Given the description of an element on the screen output the (x, y) to click on. 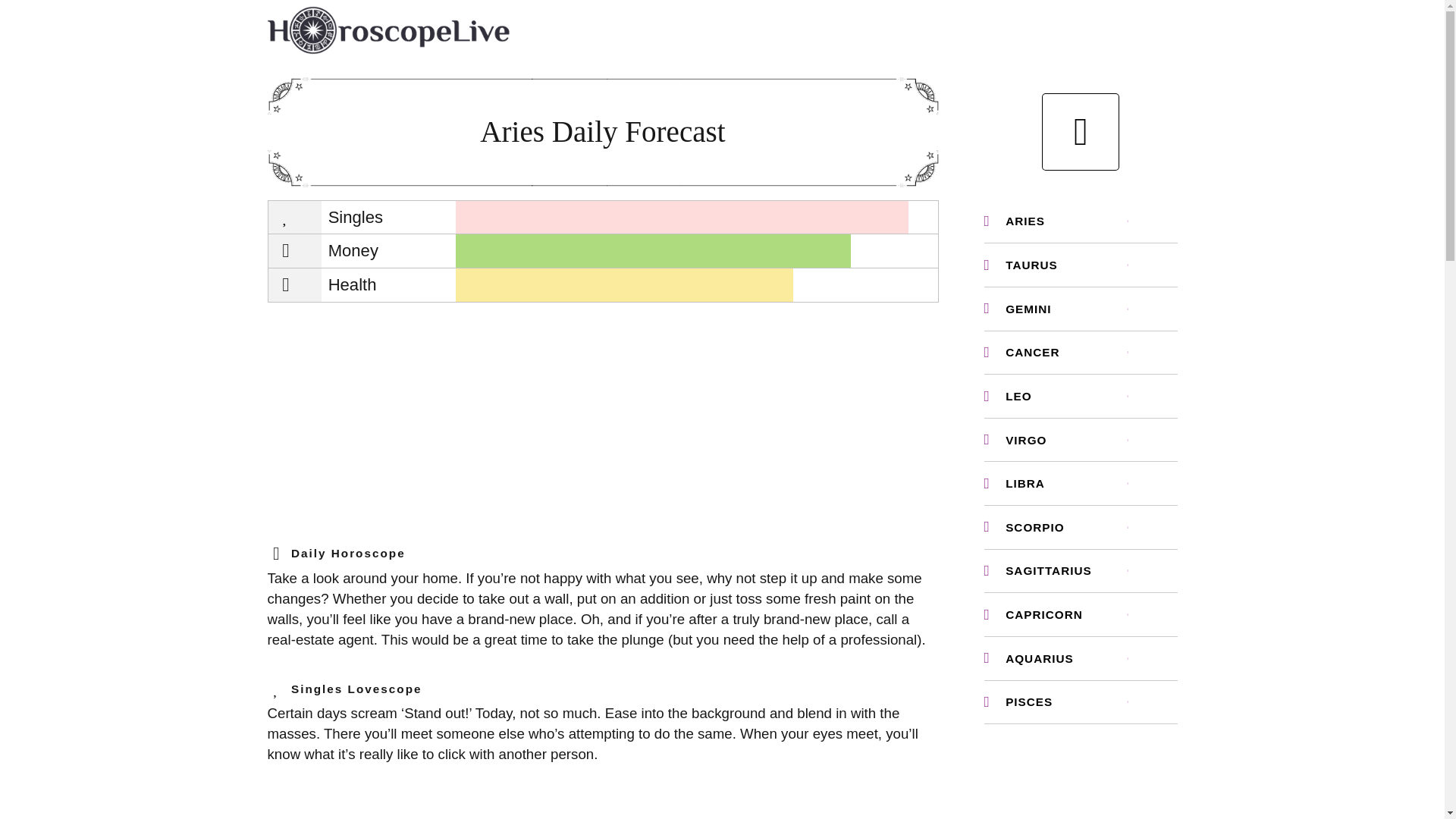
ARIES (1080, 221)
LEO (1080, 395)
CANCER (1080, 352)
SAGITTARIUS (1080, 570)
CAPRICORN (1080, 614)
LIBRA (1080, 483)
PISCES (1080, 701)
VIRGO (1080, 439)
AQUARIUS (1080, 658)
VIRGO (1080, 439)
ARIES (1080, 221)
SAGITTARIUS (1080, 570)
LIBRA (1080, 483)
SCORPIO (1080, 527)
SCORPIO (1080, 527)
